Given the description of an element on the screen output the (x, y) to click on. 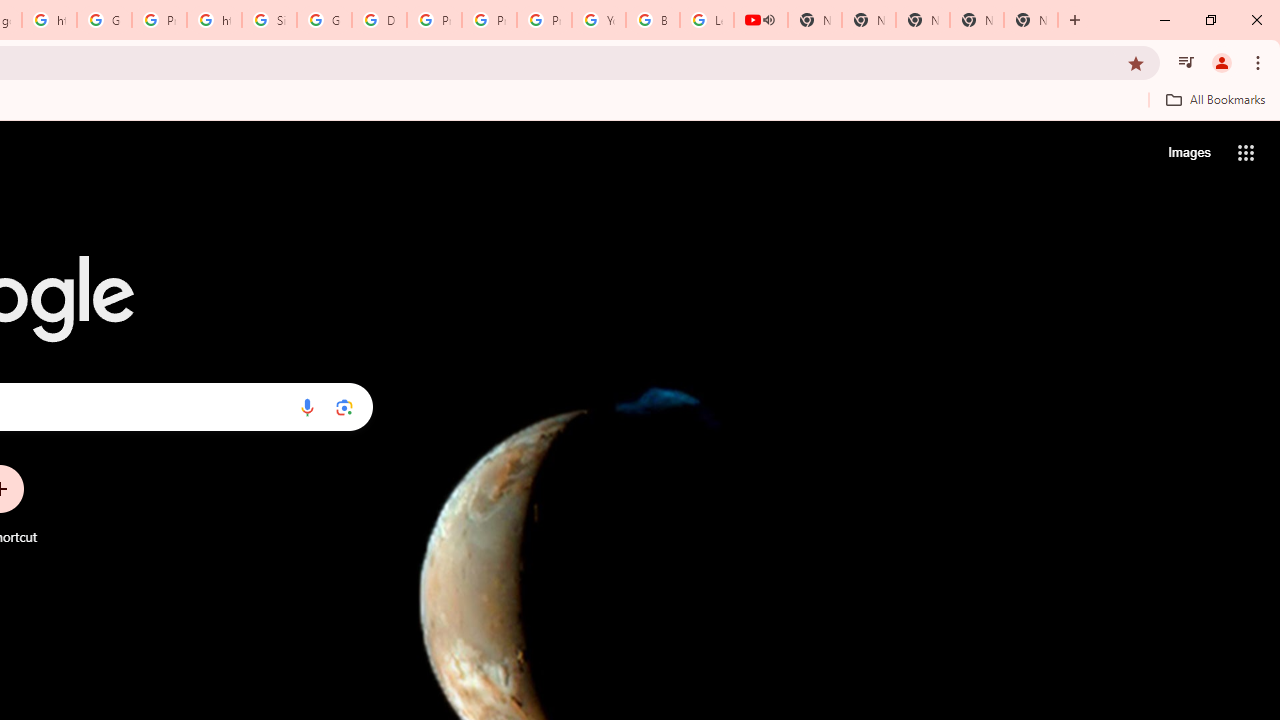
New Tab (1030, 20)
https://scholar.google.com/ (48, 20)
Privacy Help Center - Policies Help (489, 20)
